Given the description of an element on the screen output the (x, y) to click on. 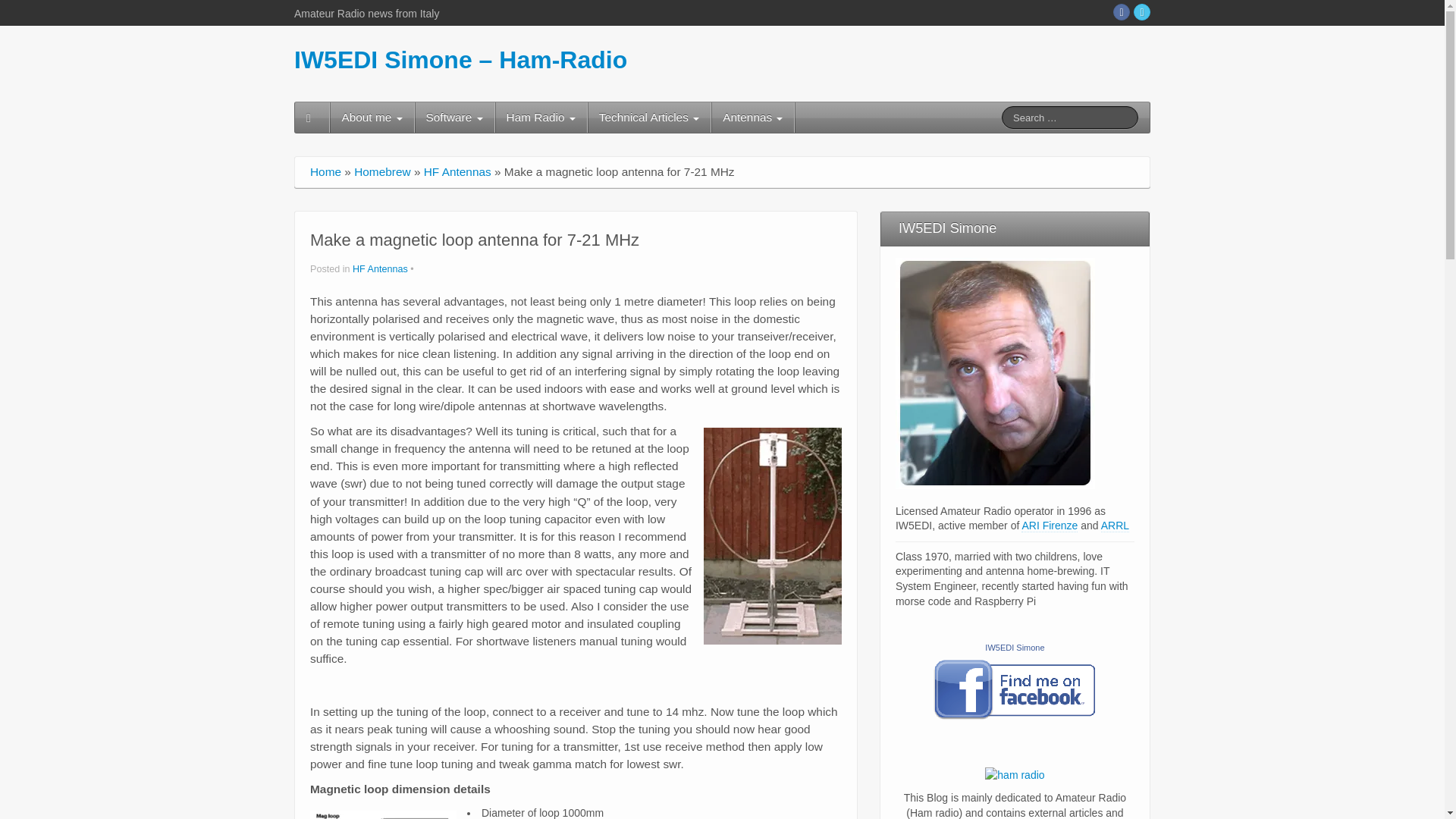
Software (454, 117)
Ham Radio (540, 117)
IW5EDI Simone - Ham-Radio Twitter (1142, 12)
Technical Articles (649, 117)
About me (371, 117)
IW5EDI Simone - Ham-Radio Facebook (1121, 12)
